Given the description of an element on the screen output the (x, y) to click on. 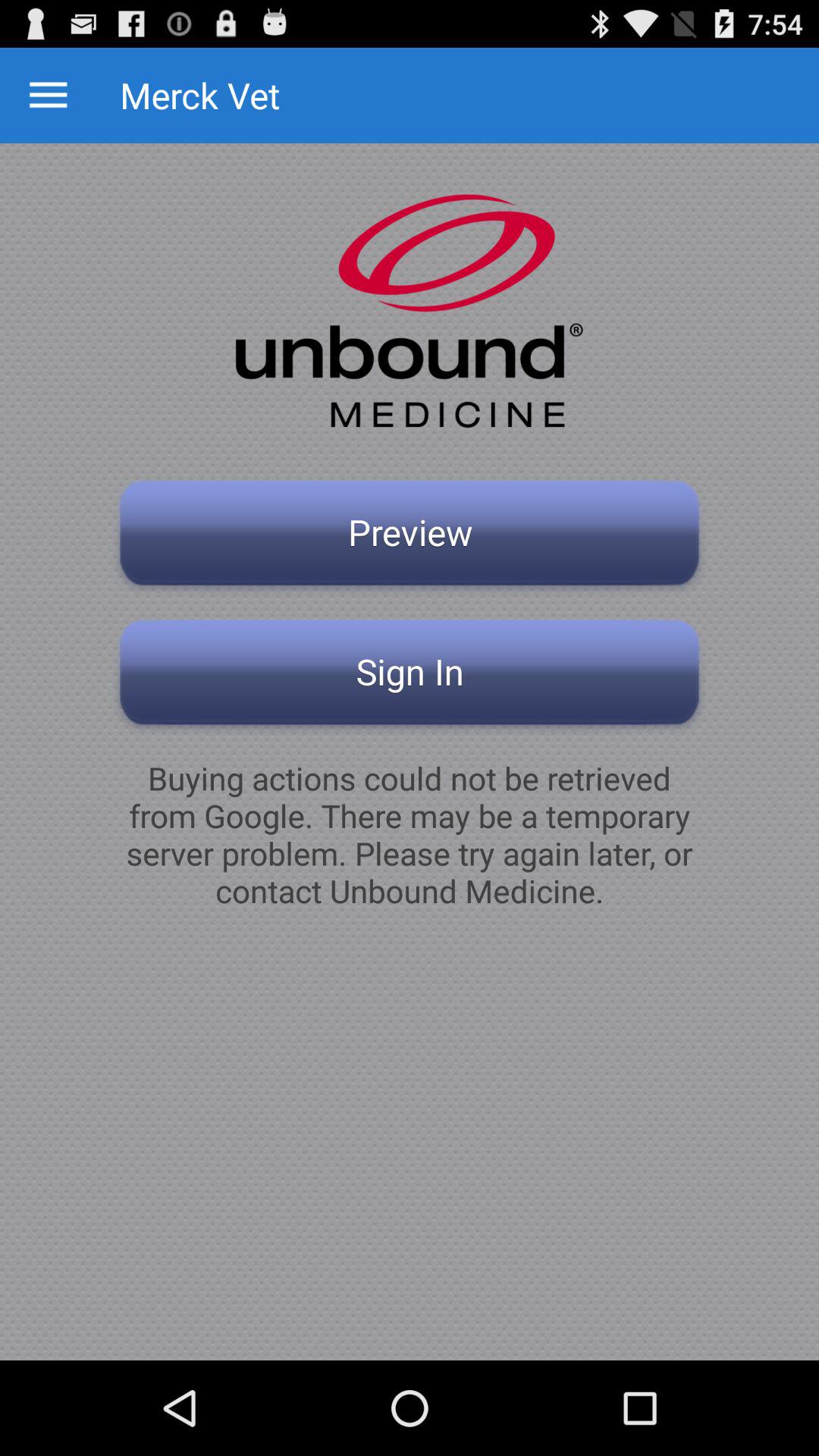
turn on the icon below the preview button (409, 676)
